Given the description of an element on the screen output the (x, y) to click on. 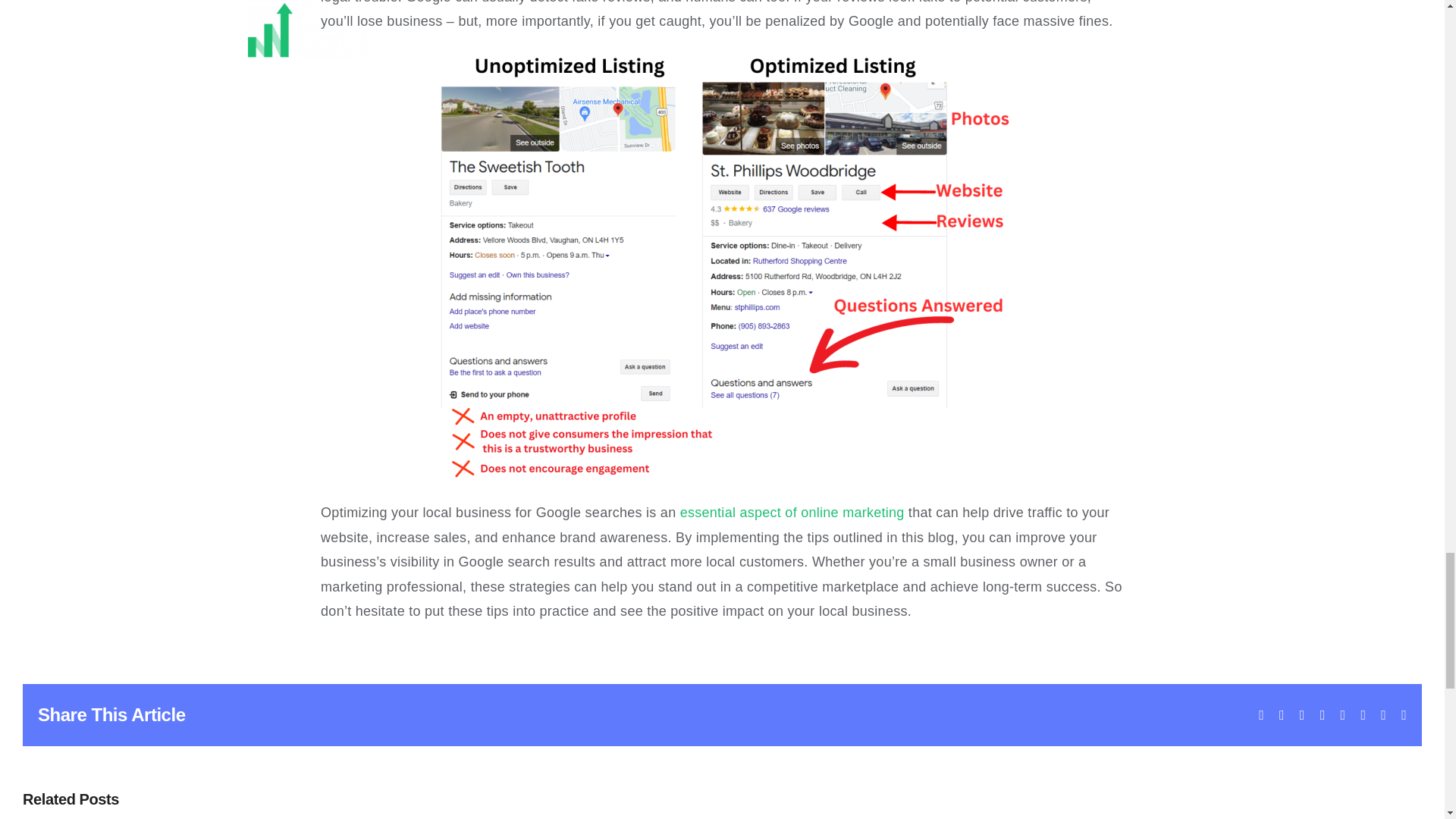
essential aspect of online marketing (791, 512)
